Given the description of an element on the screen output the (x, y) to click on. 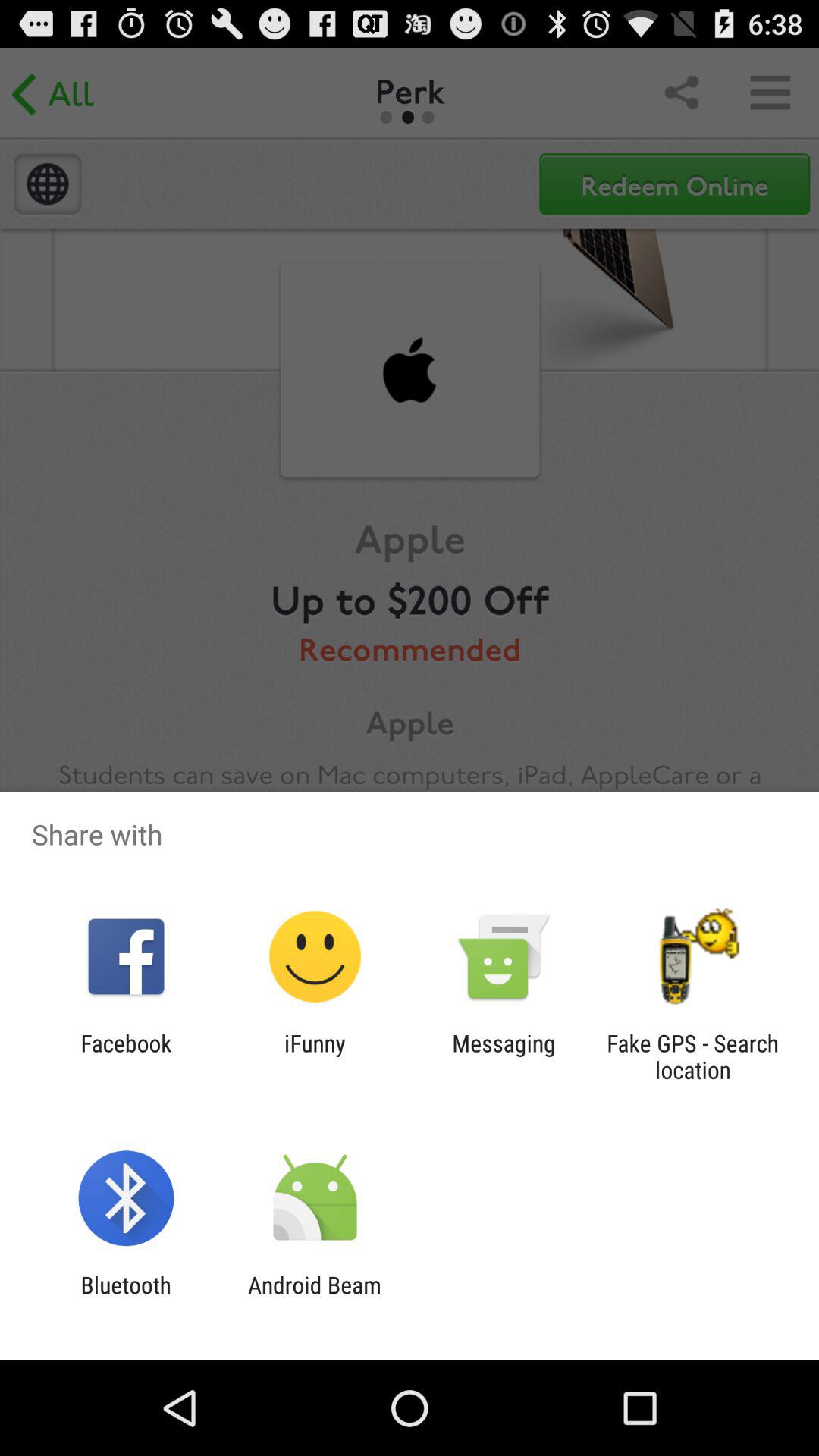
press the item next to facebook icon (314, 1056)
